Given the description of an element on the screen output the (x, y) to click on. 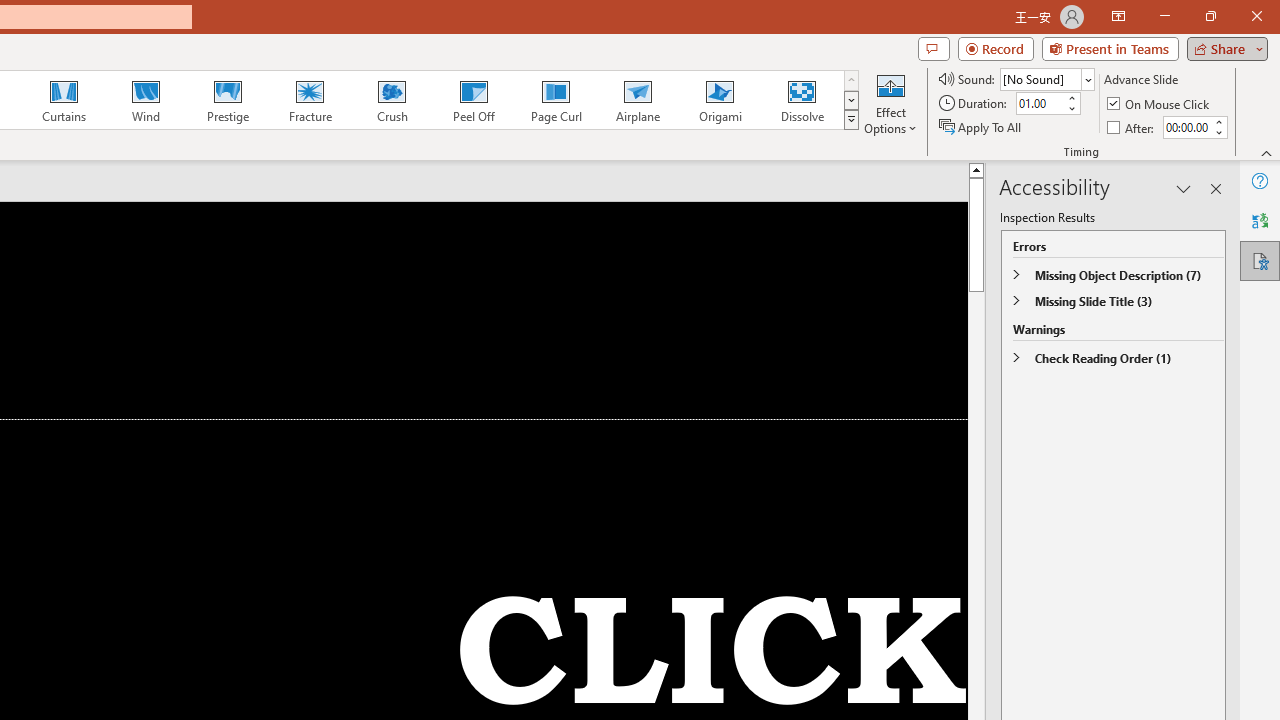
Page Curl (555, 100)
Curtains (63, 100)
Apply To All (981, 126)
